Given the description of an element on the screen output the (x, y) to click on. 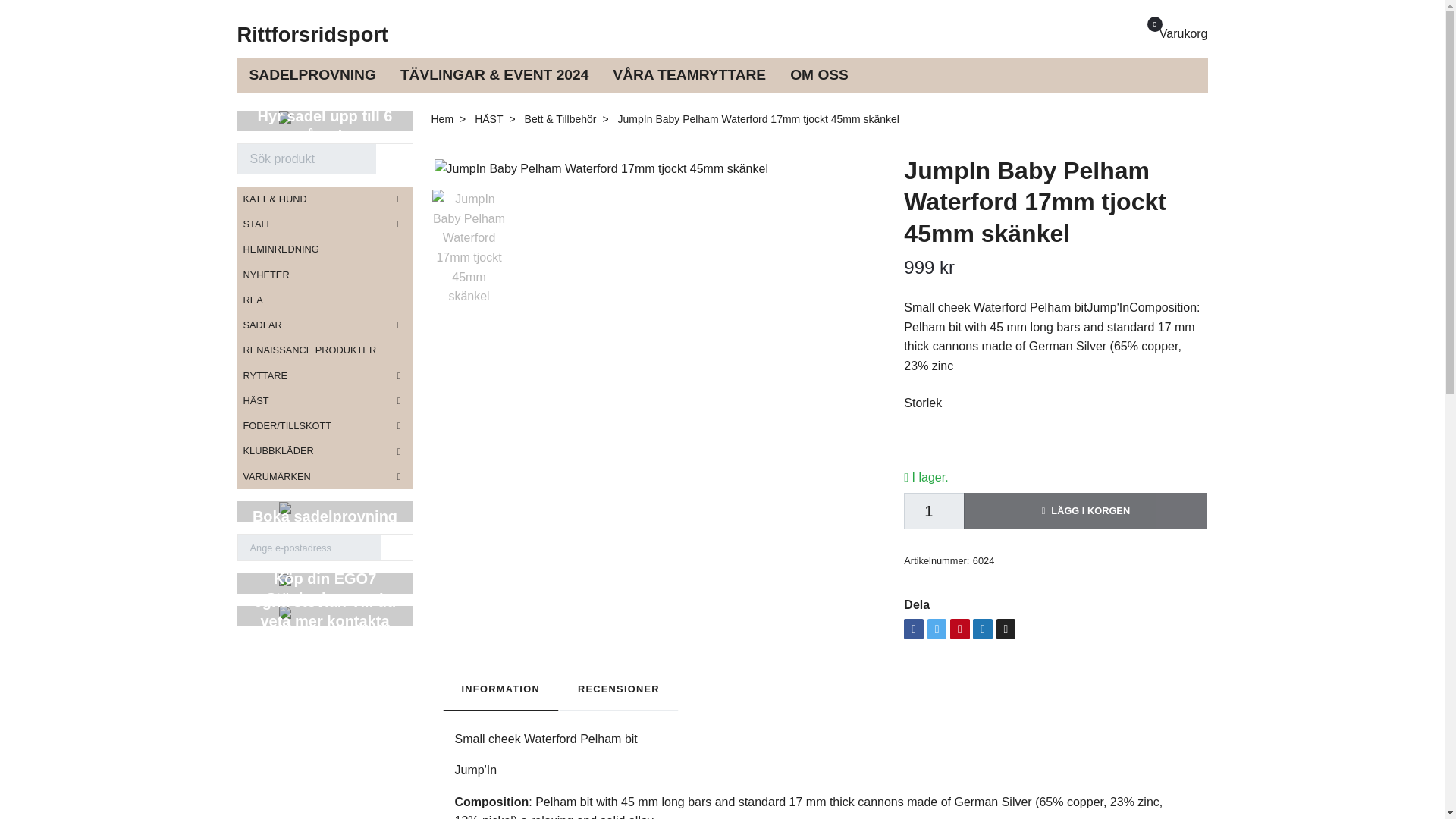
SADELPROVNING  (311, 75)
Rittforsridsport (311, 34)
1 (933, 511)
OM OSS  (818, 75)
Rittforsridsport (311, 34)
SADELPROVNING (311, 75)
OM OSS (1174, 34)
